Given the description of an element on the screen output the (x, y) to click on. 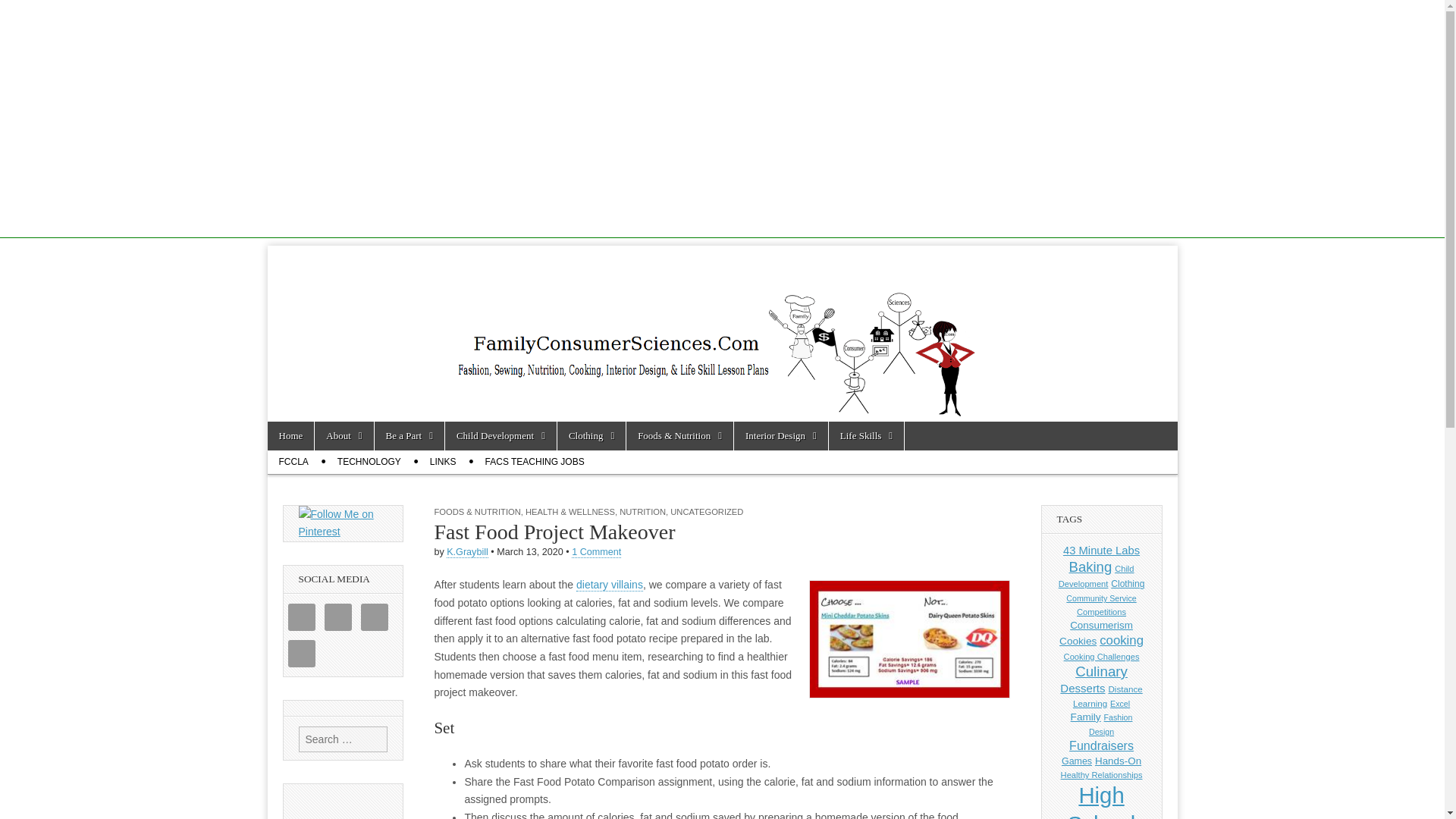
About (343, 435)
Child Development (500, 435)
Life Skills (866, 435)
Be a Part (409, 435)
Posts by K.Graybill (466, 552)
Skip to content (296, 429)
Home (290, 435)
Clothing (591, 435)
FamilyConsumerSciences.com (507, 286)
Interior Design (780, 435)
Skip to content (296, 429)
FamilyConsumerSciences.com (507, 286)
